Given the description of an element on the screen output the (x, y) to click on. 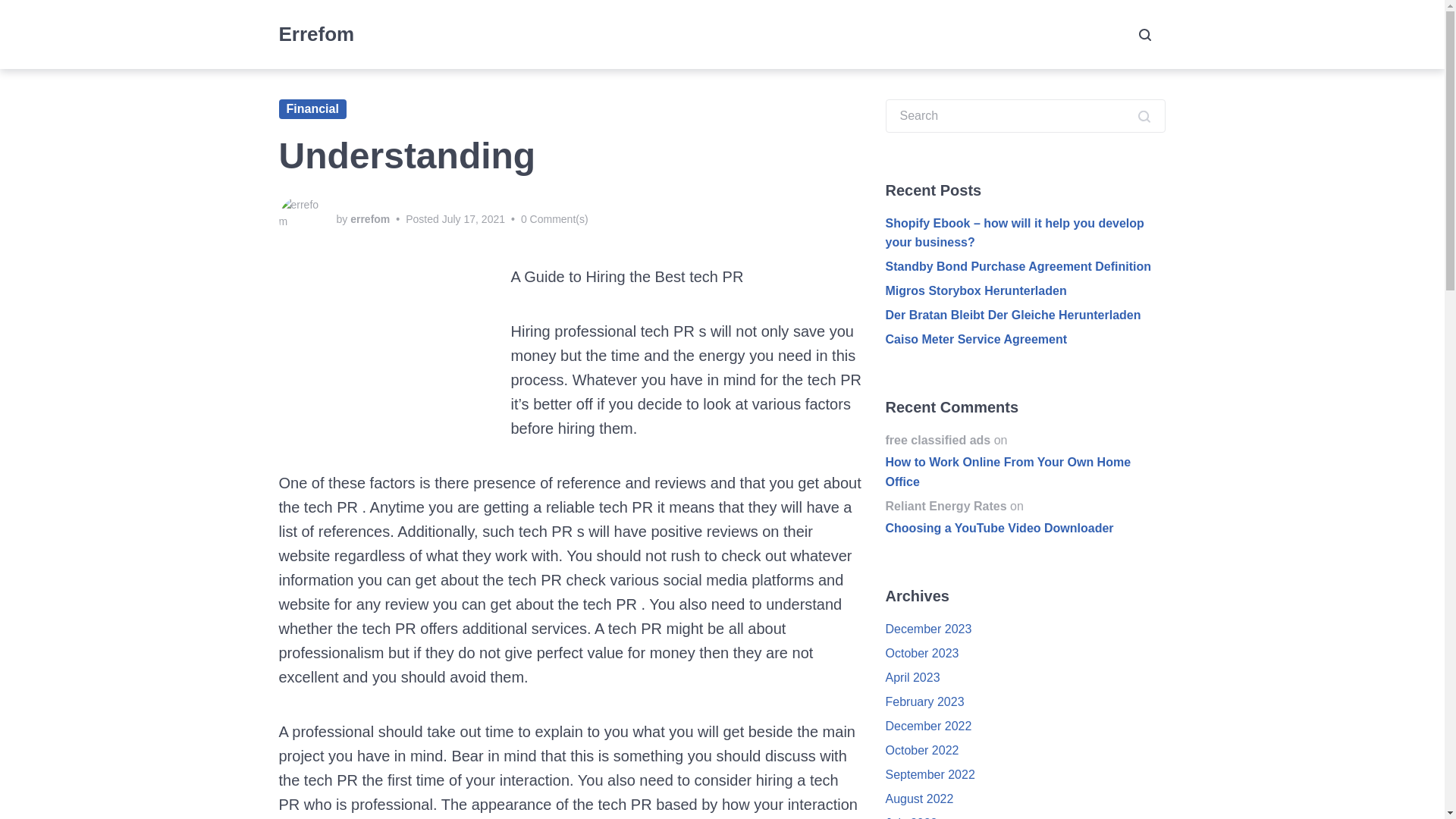
December 2023 (928, 628)
Financial (312, 108)
April 2023 (912, 676)
August 2022 (919, 798)
Choosing a YouTube Video Downloader (1025, 539)
Standby Bond Purchase Agreement Definition (1018, 266)
December 2022 (928, 725)
Errefom (317, 33)
September 2022 (930, 774)
Migros Storybox Herunterladen (976, 290)
